Given the description of an element on the screen output the (x, y) to click on. 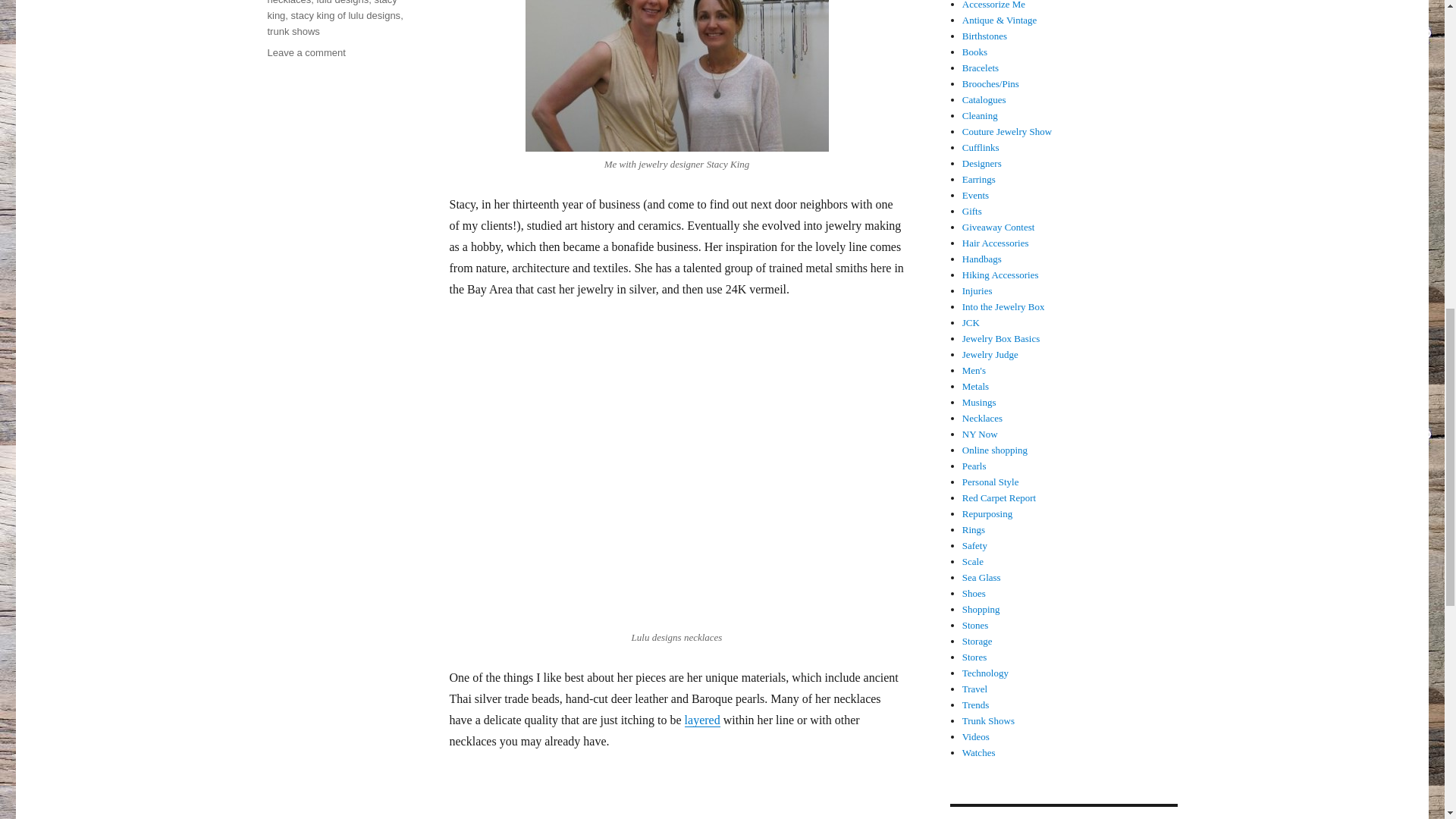
stacy king (331, 10)
lulu designs (343, 2)
trunk shows (292, 30)
stacyking (305, 52)
stacy king of lulu designs (676, 75)
layered (346, 15)
layering necklaces (702, 719)
